Given the description of an element on the screen output the (x, y) to click on. 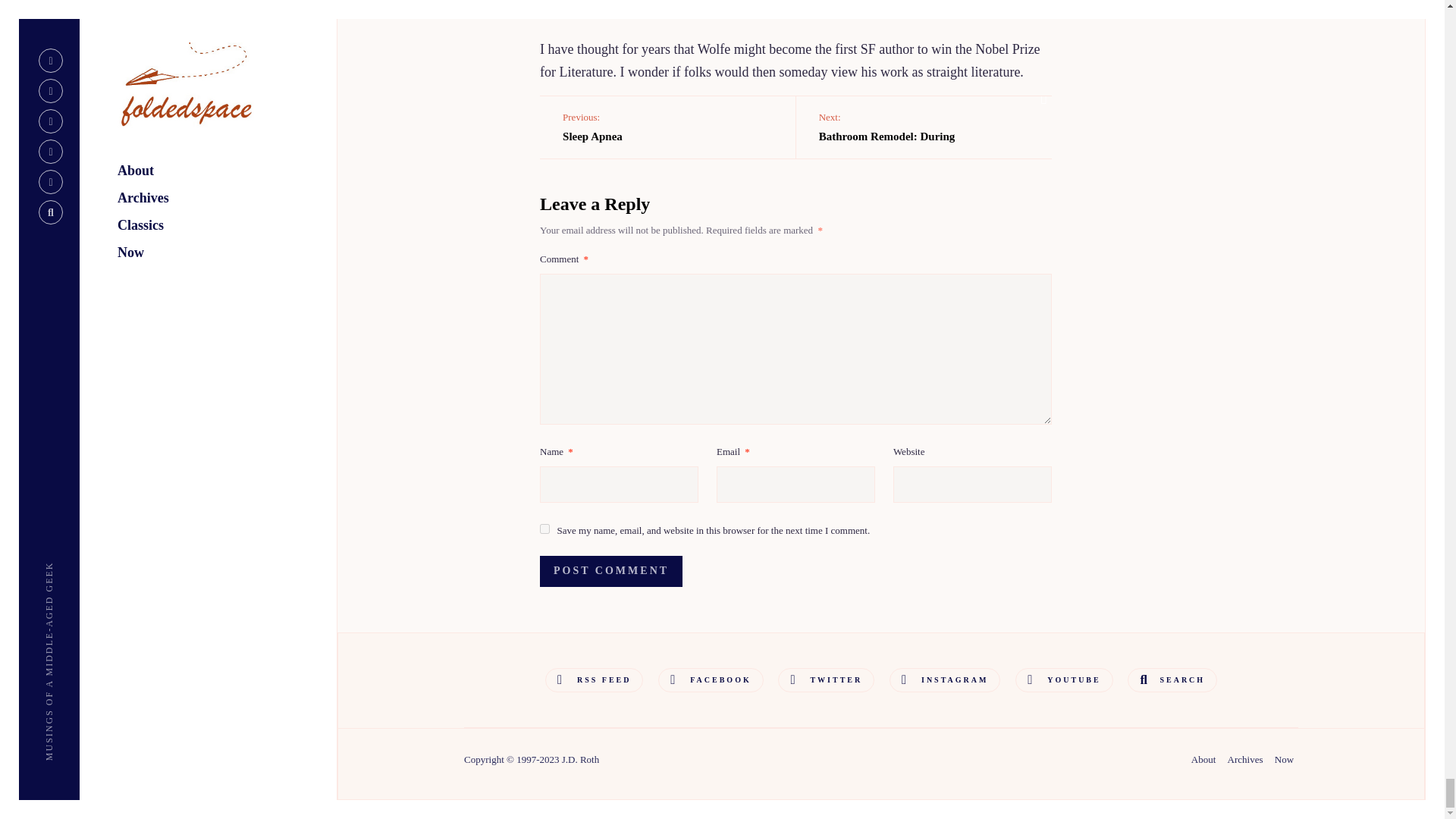
Rss Feed (924, 127)
yes (593, 680)
Post Comment (545, 528)
Post Comment (667, 127)
